Given the description of an element on the screen output the (x, y) to click on. 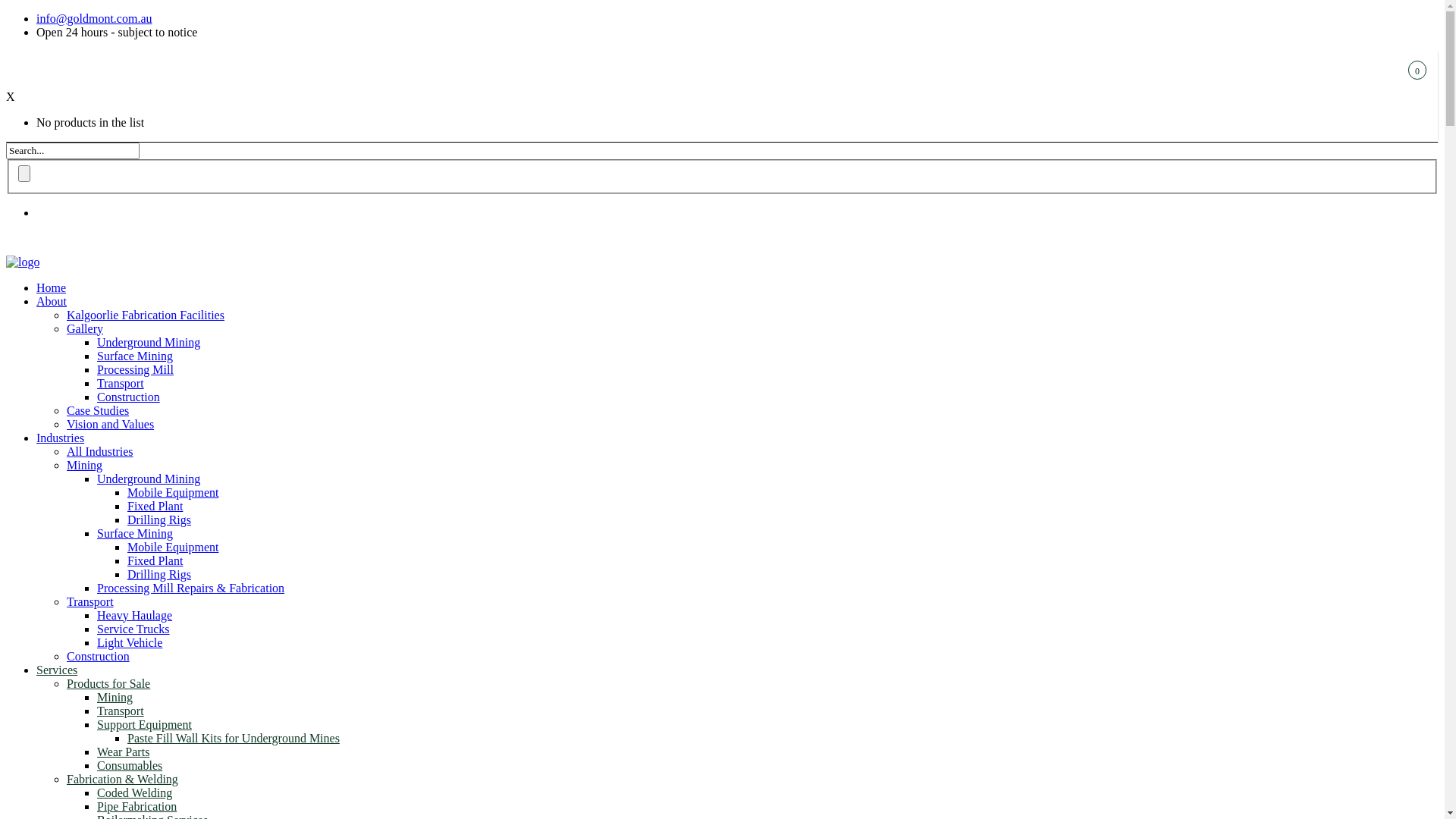
Surface Mining Element type: text (134, 533)
Goldmont Engineering Element type: hover (22, 261)
Vision and Values Element type: text (109, 423)
info@goldmont.com.au Element type: text (94, 18)
Home Element type: text (50, 287)
Support Equipment Element type: text (144, 724)
Pipe Fabrication Element type: text (136, 806)
Underground Mining Element type: text (148, 478)
Surface Mining Element type: text (134, 355)
Coded Welding Element type: text (134, 792)
Processing Mill Repairs & Fabrication Element type: text (190, 587)
Construction Element type: text (128, 396)
Underground Mining Element type: text (148, 341)
Case Studies Element type: text (97, 410)
Mobile Equipment Element type: text (172, 546)
Services Element type: text (56, 669)
Transport Element type: text (89, 601)
Processing Mill Element type: text (135, 369)
Drilling Rigs Element type: text (159, 519)
Service Trucks Element type: text (133, 628)
0 Element type: text (31, 75)
About Element type: text (51, 300)
Fabrication & Welding Element type: text (122, 778)
Fixed Plant Element type: text (154, 505)
Heavy Haulage Element type: text (134, 614)
Industries Element type: text (60, 437)
Kalgoorlie Fabrication Facilities Element type: text (145, 314)
Drilling Rigs Element type: text (159, 573)
Wear Parts Element type: text (123, 751)
Light Vehicle Element type: text (129, 642)
Gallery Element type: text (84, 328)
All Industries Element type: text (99, 451)
Mobile Equipment Element type: text (172, 492)
Transport Element type: text (120, 382)
Construction Element type: text (97, 655)
Transport Element type: text (120, 710)
Products for Sale Element type: text (108, 683)
Mining Element type: text (84, 464)
Paste Fill Wall Kits for Underground Mines Element type: text (233, 737)
Fixed Plant Element type: text (154, 560)
Consumables Element type: text (129, 765)
Mining Element type: text (114, 696)
